Given the description of an element on the screen output the (x, y) to click on. 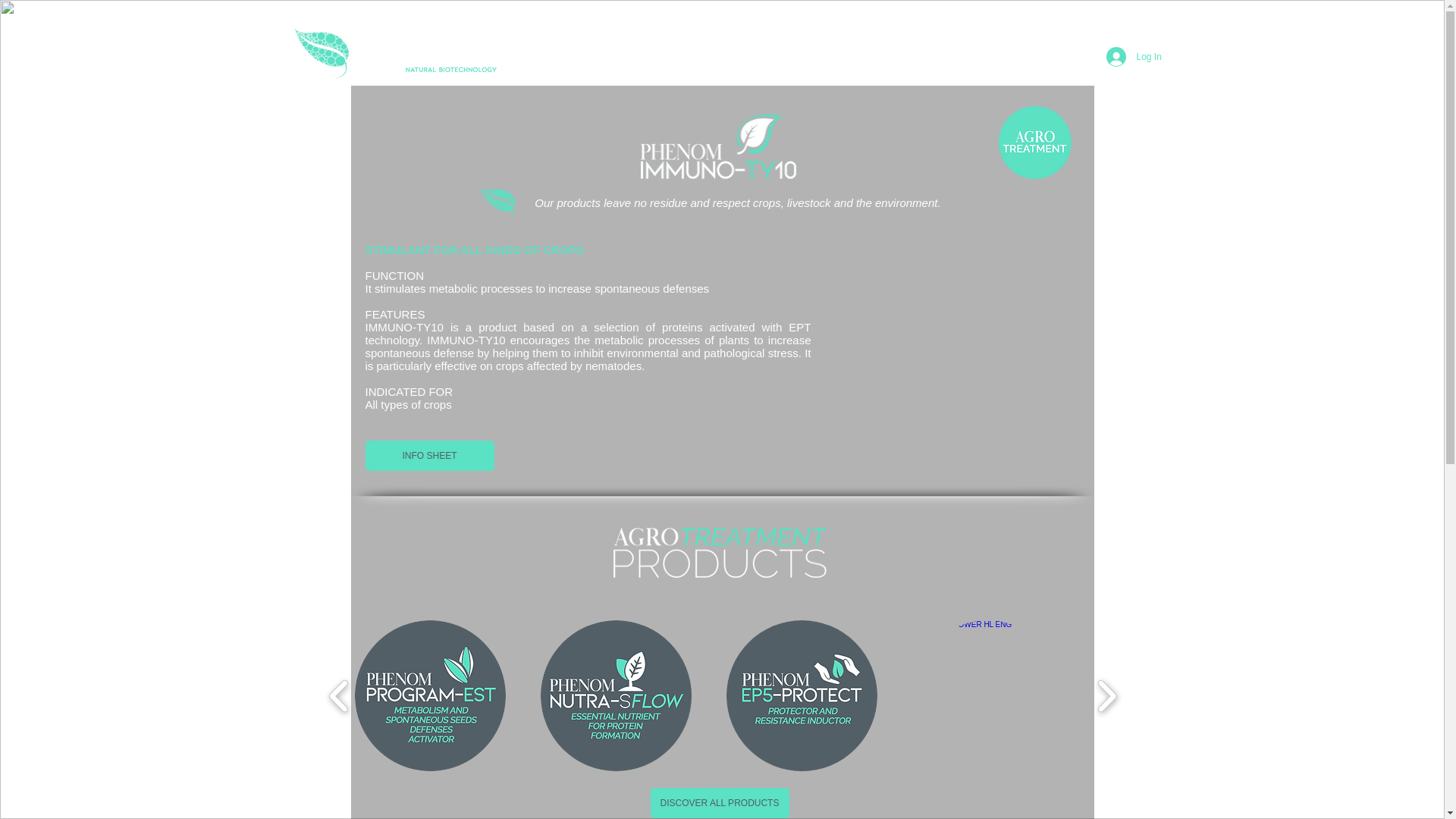
Log In (1125, 56)
CHI SIAMO (593, 56)
SETTORI (760, 56)
SANIFICAZIONE (679, 56)
CONTATTI (986, 56)
PRODOTTI (827, 56)
TECNOLOGIA (907, 56)
HOME (529, 56)
INFO SHEET (430, 455)
DISCOVER ALL PRODUCTS (719, 802)
